Given the description of an element on the screen output the (x, y) to click on. 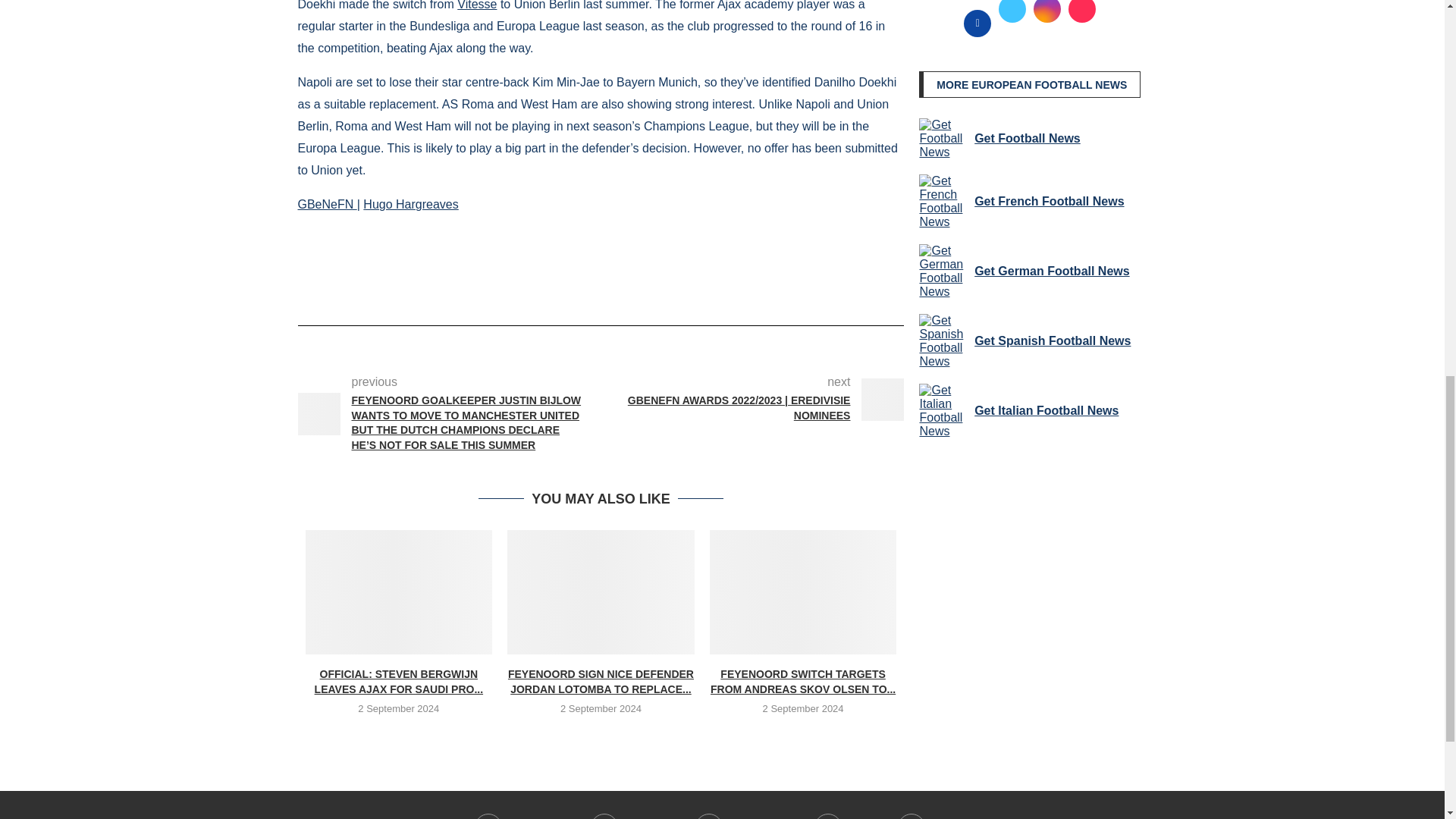
Get Italian Football News (943, 411)
Get Football News (943, 137)
Get German Football News (943, 271)
Get Spanish Football News (943, 340)
Get French Football News (943, 201)
